Given the description of an element on the screen output the (x, y) to click on. 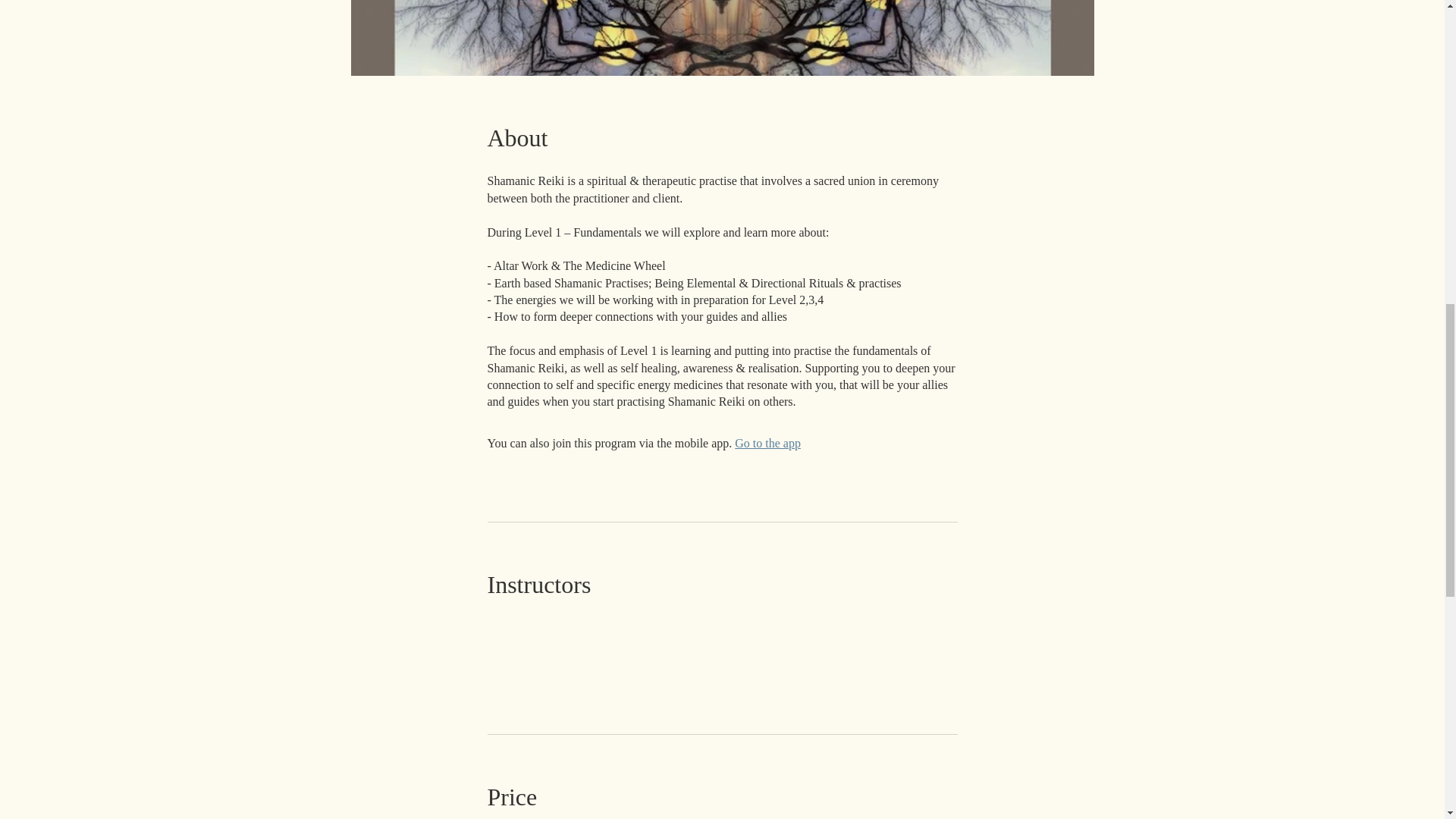
Go to the app (767, 442)
